Given the description of an element on the screen output the (x, y) to click on. 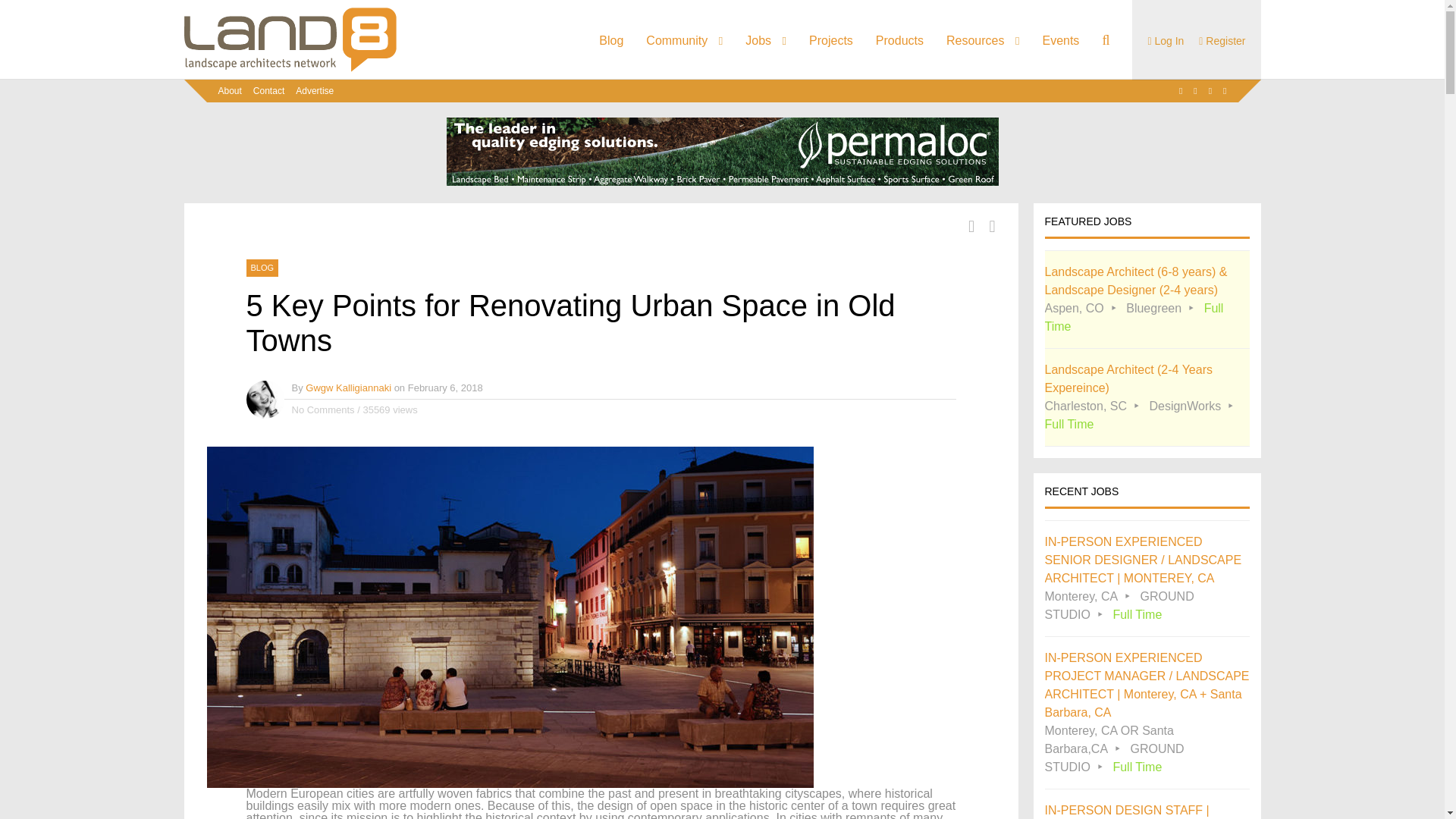
Land8 (289, 68)
About (229, 90)
